Given the description of an element on the screen output the (x, y) to click on. 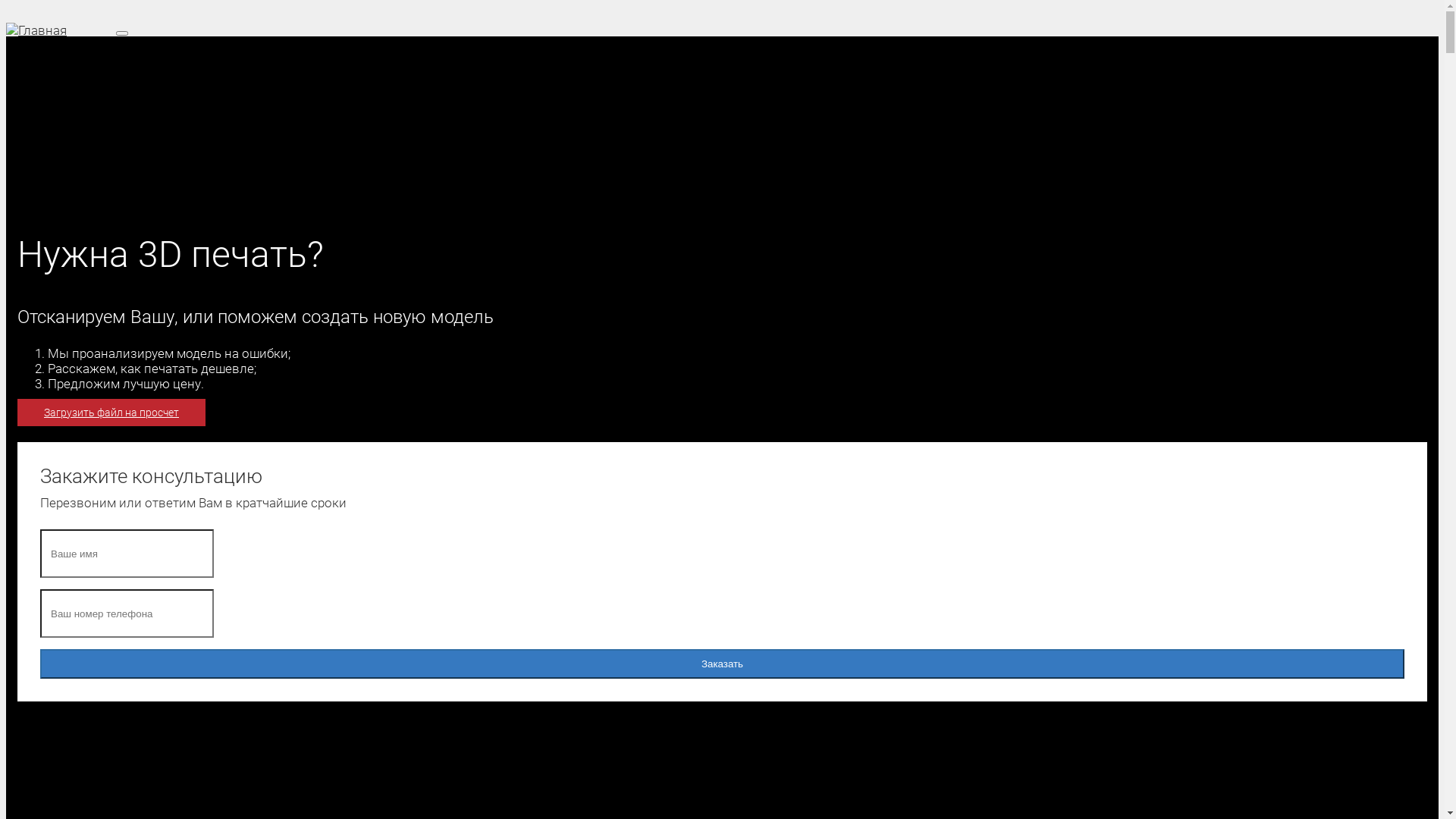
8 029 152-67-37 Element type: text (178, 193)
info@3d-art.by Element type: text (187, 111)
Toggle navigation Element type: text (122, 33)
